Given the description of an element on the screen output the (x, y) to click on. 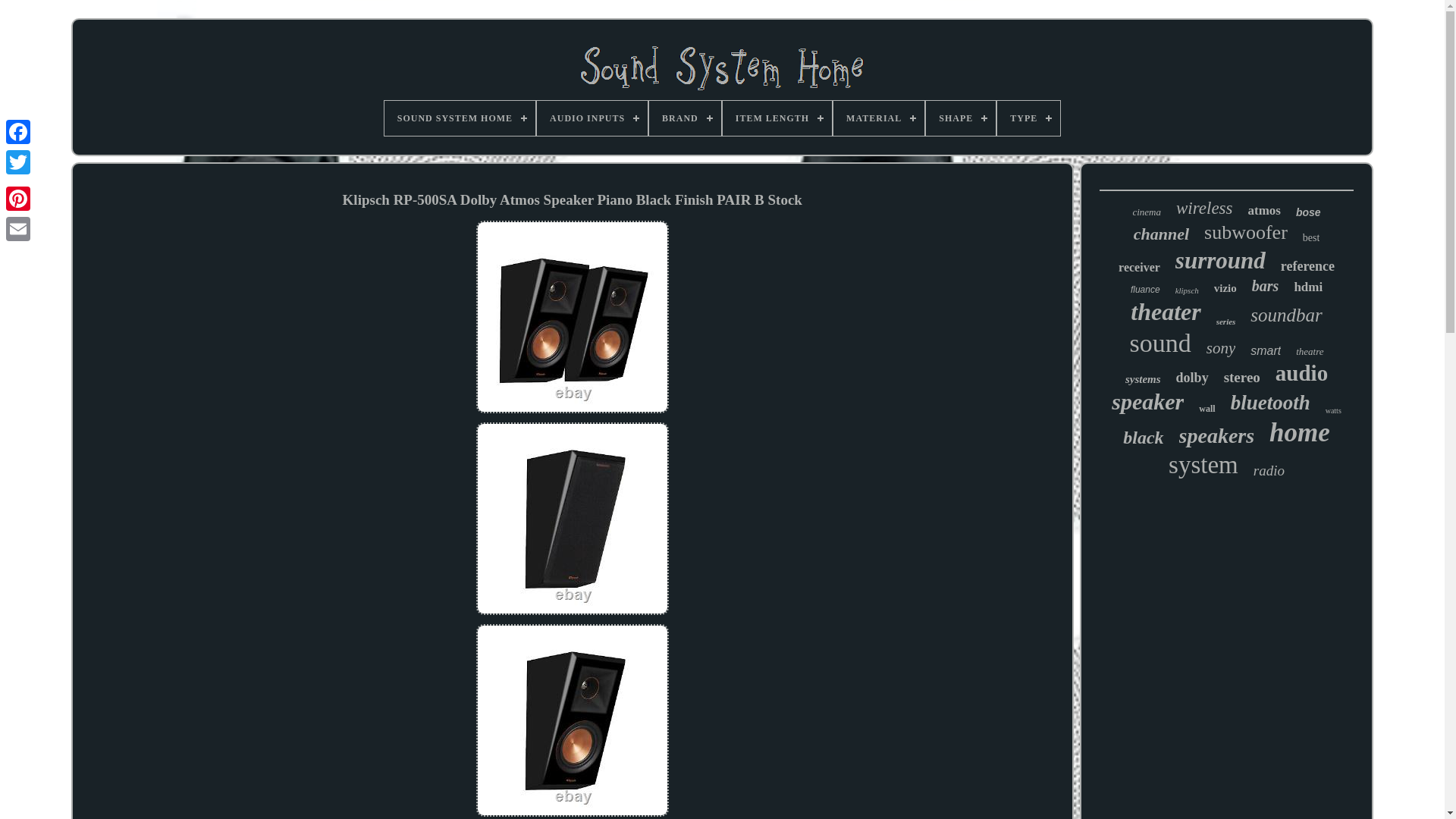
SOUND SYSTEM HOME (459, 117)
AUDIO INPUTS (592, 117)
BRAND (684, 117)
